Given the description of an element on the screen output the (x, y) to click on. 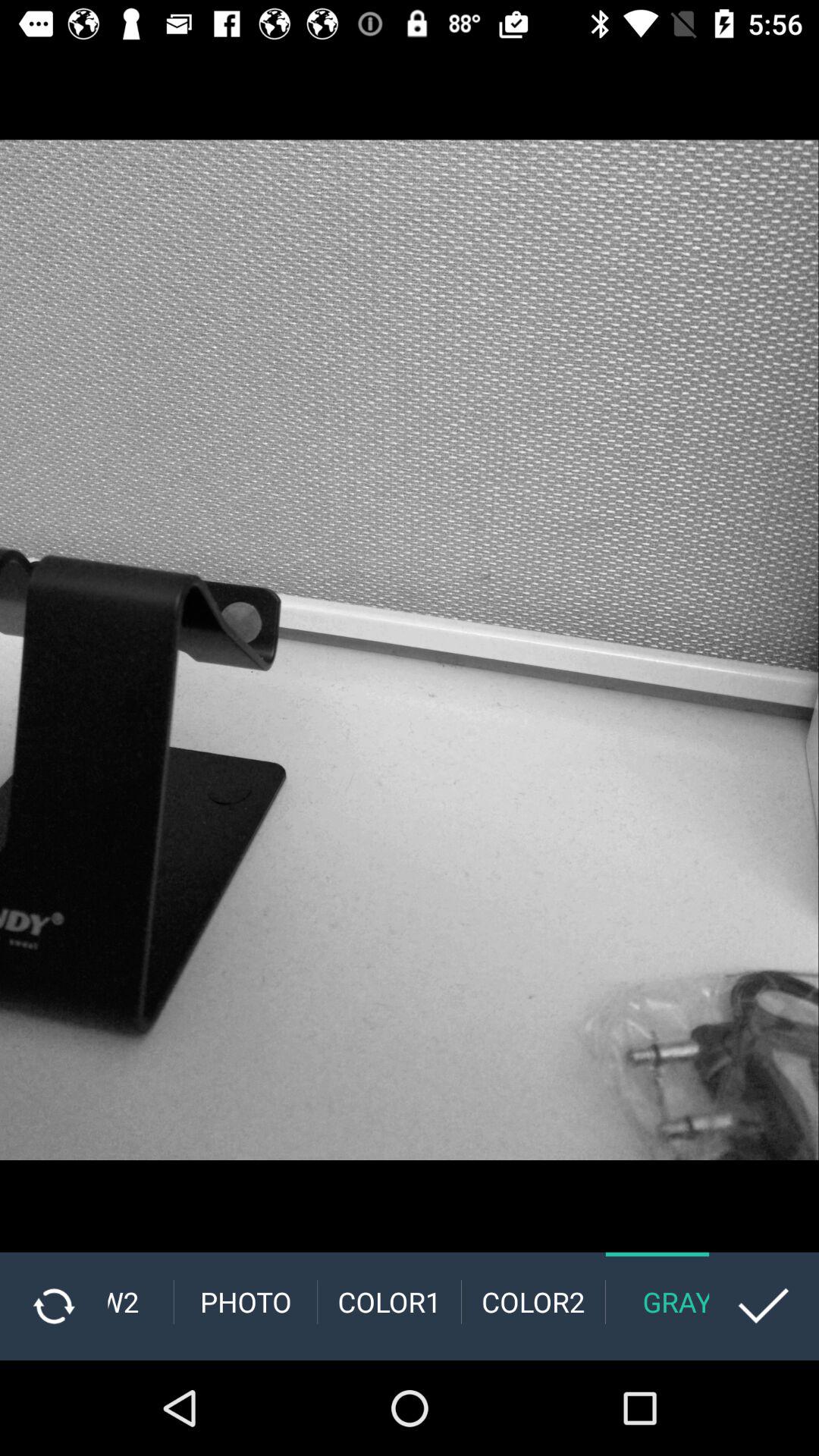
tap the gray (657, 1301)
